Given the description of an element on the screen output the (x, y) to click on. 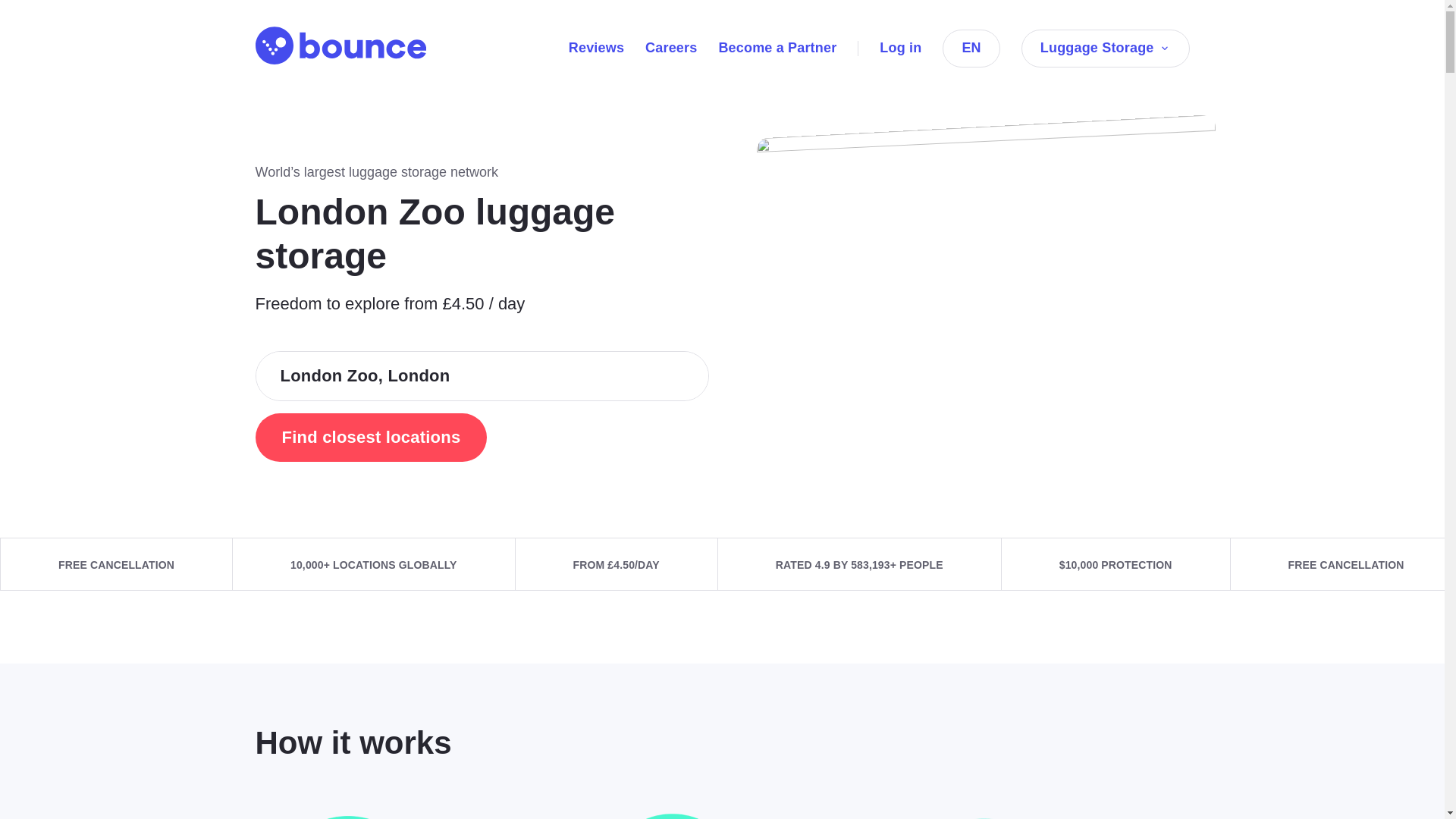
Careers (671, 47)
EN (970, 48)
Find closest locations (370, 437)
Luggage Storage (1105, 48)
London Zoo, London (481, 376)
Reviews (596, 47)
Bounce (339, 45)
Log in (900, 47)
Become a Partner (776, 47)
